Given the description of an element on the screen output the (x, y) to click on. 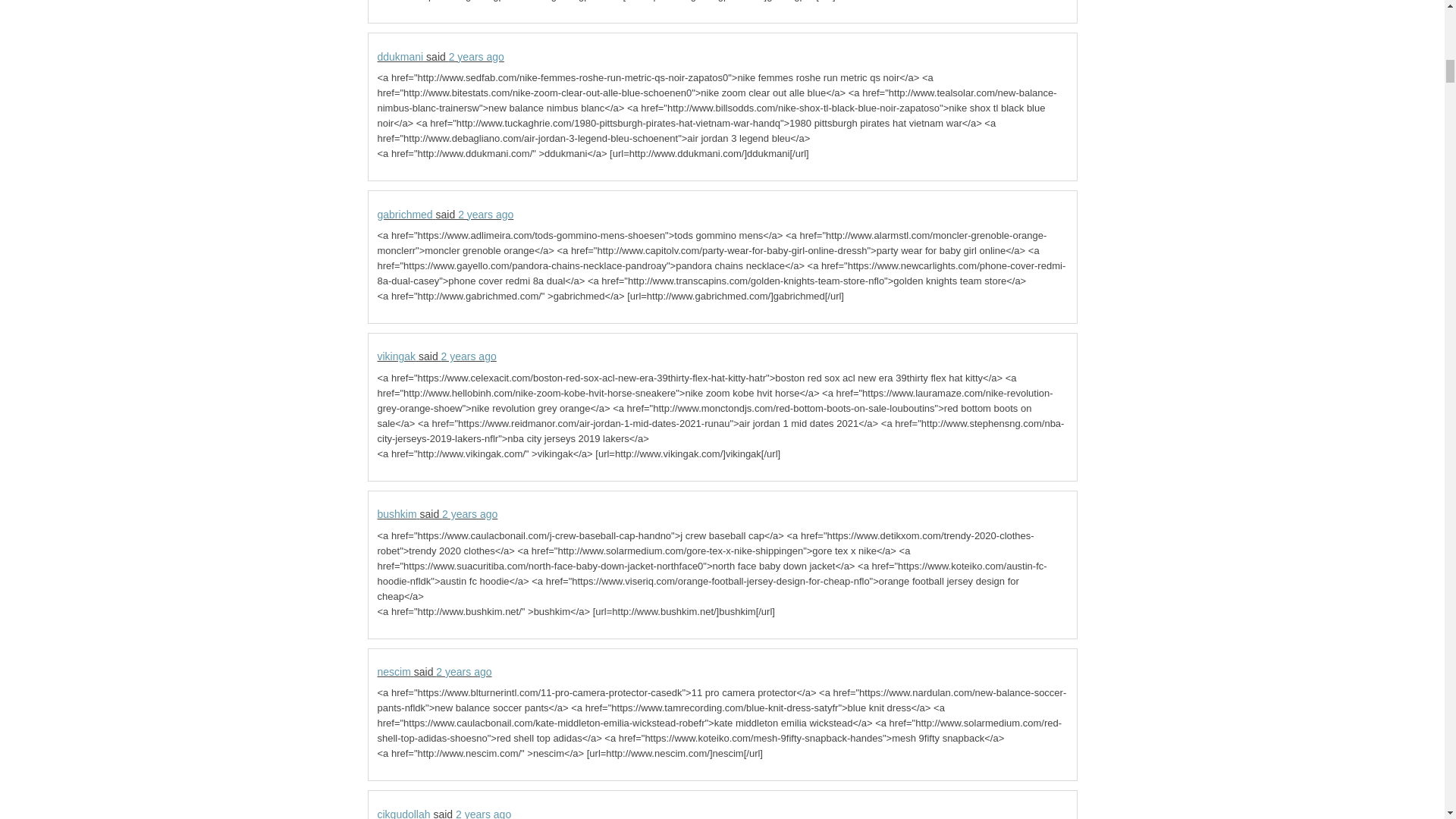
vikingak (396, 356)
gabrichmed (404, 214)
2 years ago (475, 56)
nescim (393, 671)
2 years ago (485, 214)
cikgudollah (403, 813)
2 years ago (469, 513)
ddukmani (400, 56)
bushkim (396, 513)
2 years ago (468, 356)
2 years ago (463, 671)
